Given the description of an element on the screen output the (x, y) to click on. 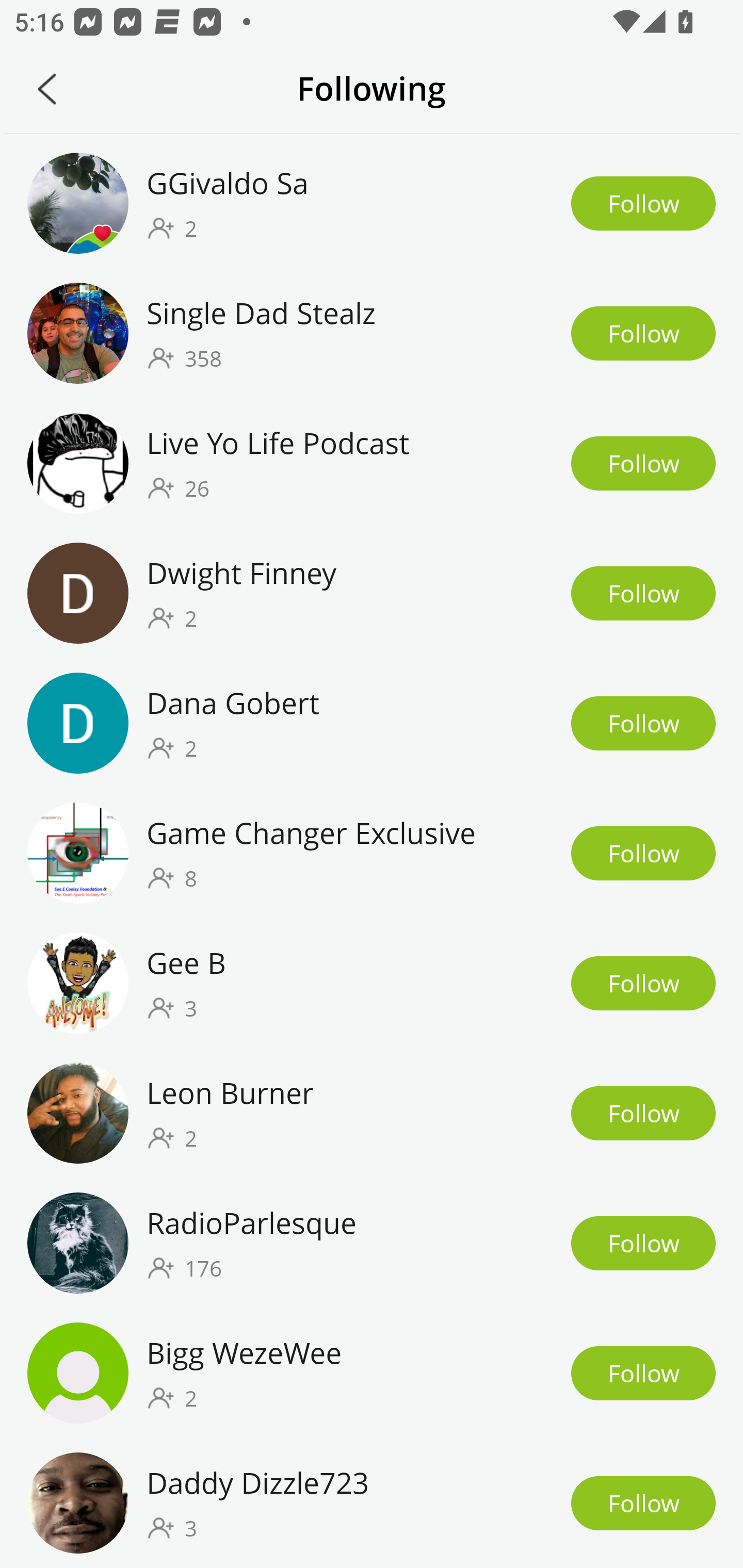
Back (46, 88)
GGivaldo Sa 2 Follow (371, 202)
Follow (643, 202)
Single Dad Stealz 358 Follow (371, 333)
Follow (643, 332)
Live Yo Life Podcast 26 Follow (371, 463)
Follow (643, 462)
Dwight Finney 2 Follow (371, 593)
Follow (643, 593)
Dana Gobert 2 Follow (371, 723)
Follow (643, 723)
Game Changer Exclusive 8 Follow (371, 853)
Follow (643, 853)
Gee B 3 Follow (371, 982)
Follow (643, 982)
Leon Burner 2 Follow (371, 1112)
Follow (643, 1112)
RadioParlesque 176 Follow (371, 1242)
Follow (643, 1243)
Bigg WezeWee 2 Follow (371, 1372)
Follow (643, 1373)
Daddy Dizzle723 3 Follow (371, 1502)
Follow (643, 1502)
